Given the description of an element on the screen output the (x, y) to click on. 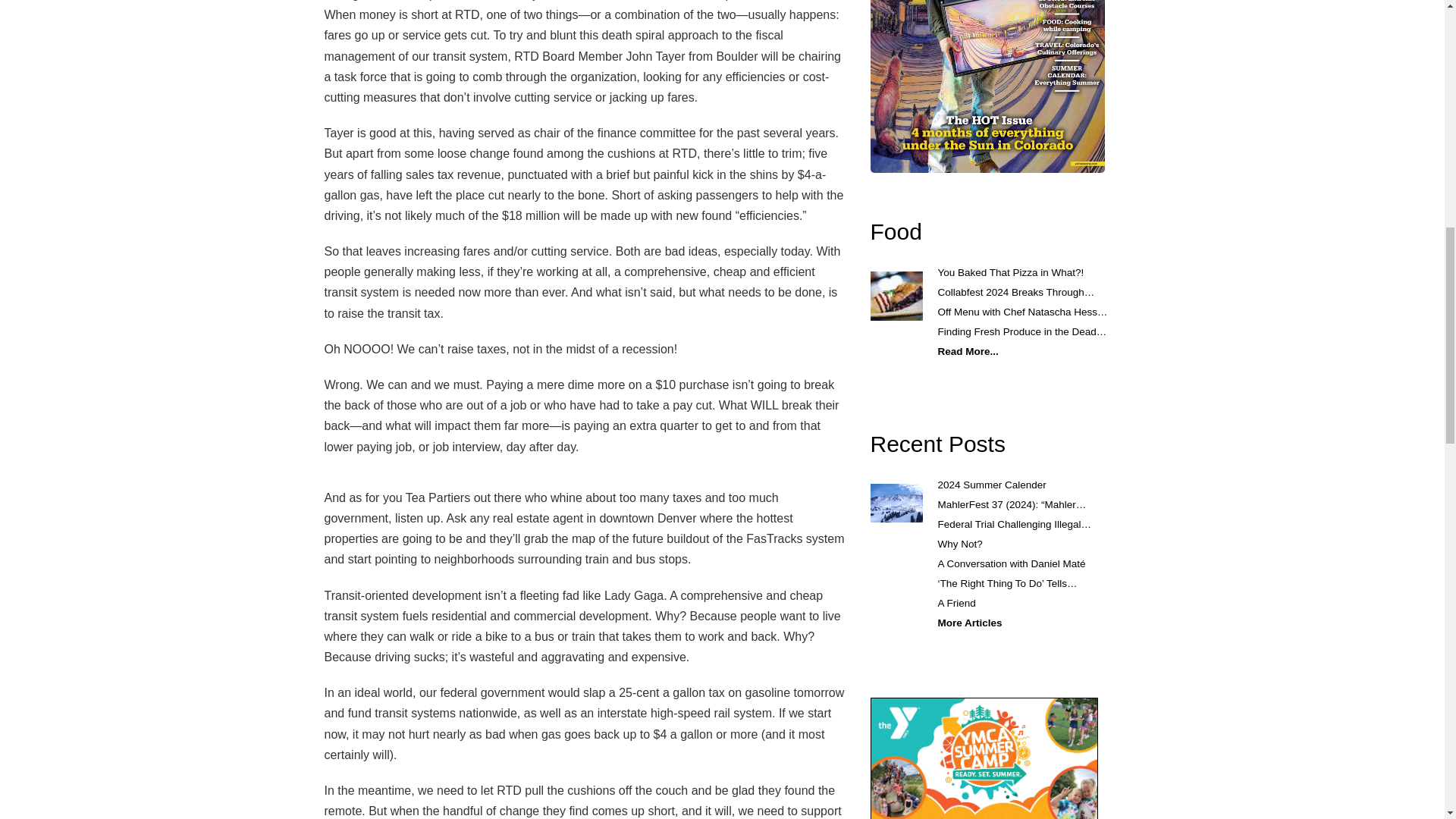
Fabulous food and great atmosphere. (896, 296)
Fabulous food and great atmosphere. (895, 231)
You Baked That Pizza in What?! (1010, 272)
Off Menu with Chef Natascha Hess of The Ginger Pig (1021, 311)
May 2024 (987, 86)
Collabfest 2024 Breaks Through Expectations (1015, 292)
